Given the description of an element on the screen output the (x, y) to click on. 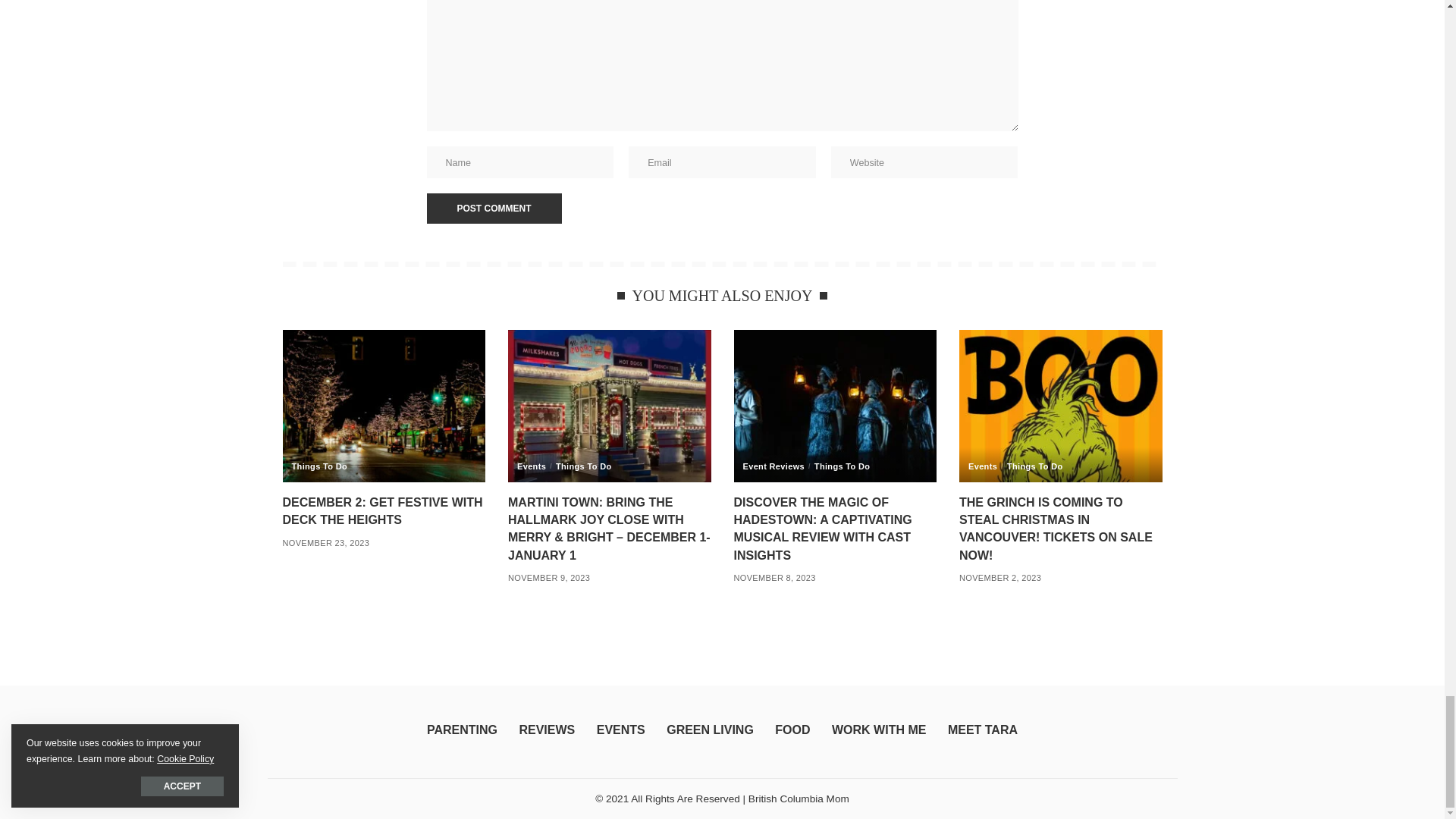
Post Comment (493, 208)
